Given the description of an element on the screen output the (x, y) to click on. 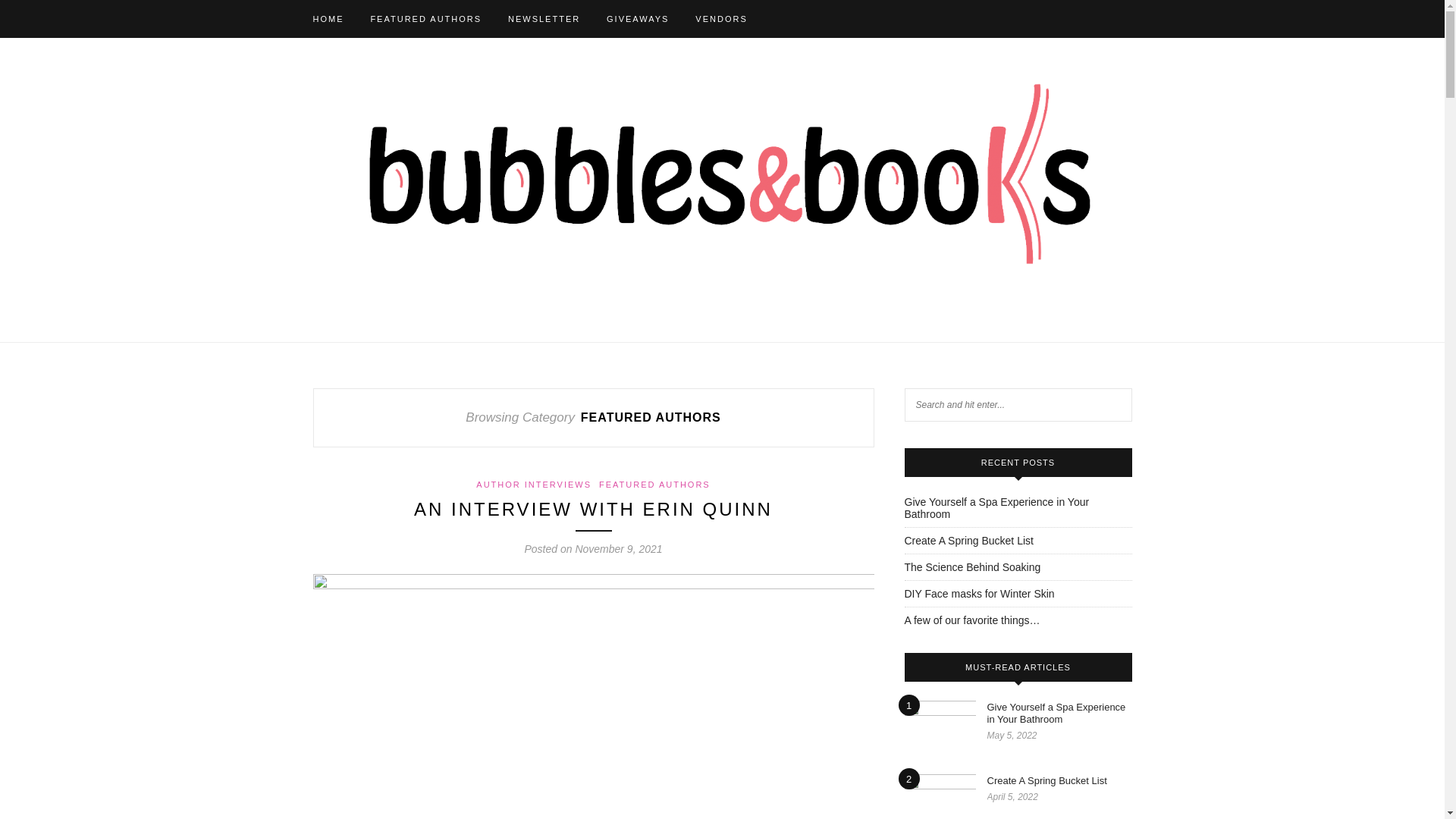
NEWSLETTER (543, 18)
GIVEAWAYS (637, 18)
VENDORS (720, 18)
AN INTERVIEW WITH ERIN QUINN (593, 508)
FEATURED AUTHORS (654, 483)
FEATURED AUTHORS (425, 18)
AUTHOR INTERVIEWS (533, 483)
